Given the description of an element on the screen output the (x, y) to click on. 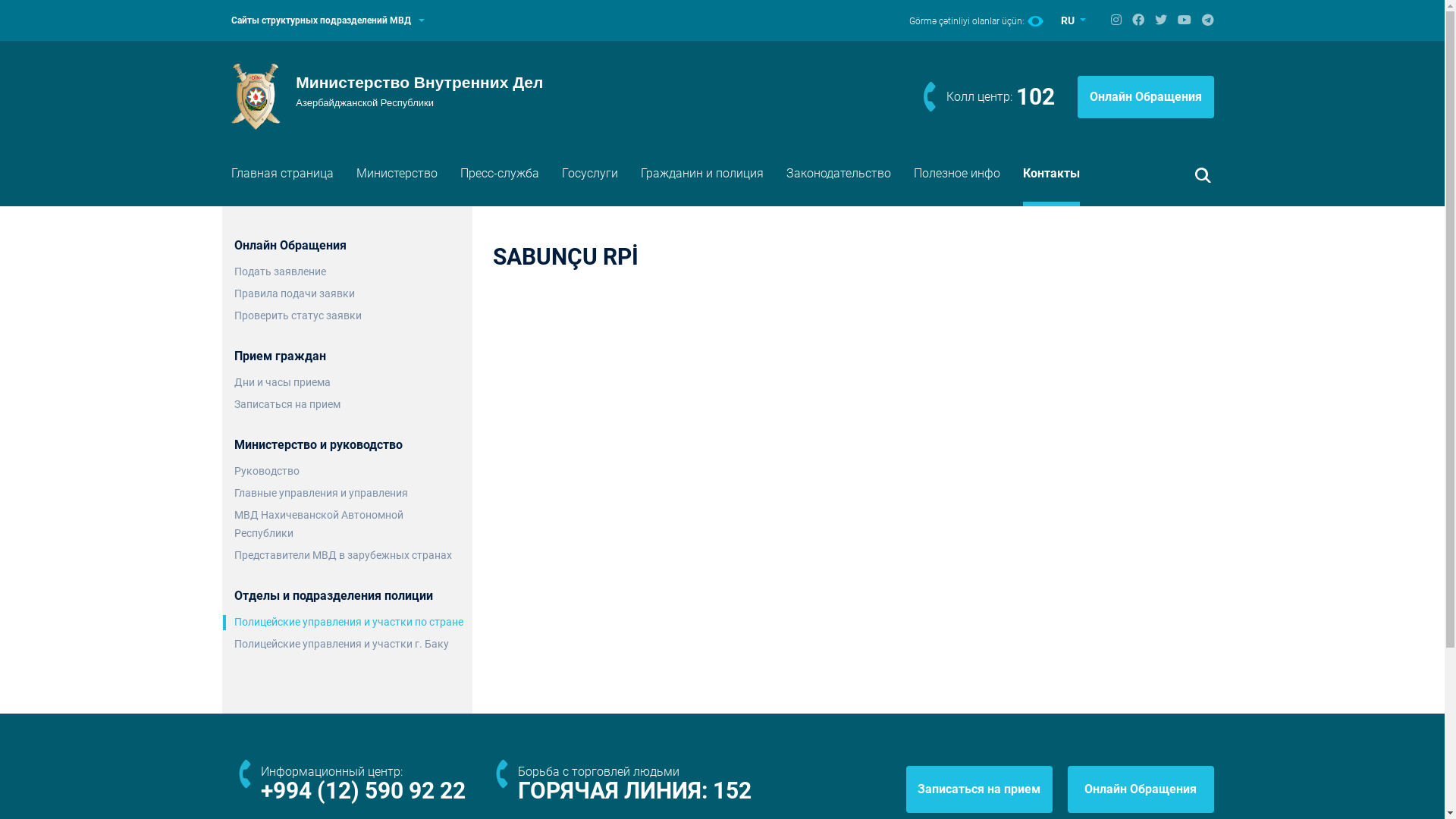
+994 (12) 590 92 22 Element type: text (362, 790)
152 Element type: text (731, 790)
RU Element type: text (1073, 20)
102 Element type: text (1035, 96)
